Given the description of an element on the screen output the (x, y) to click on. 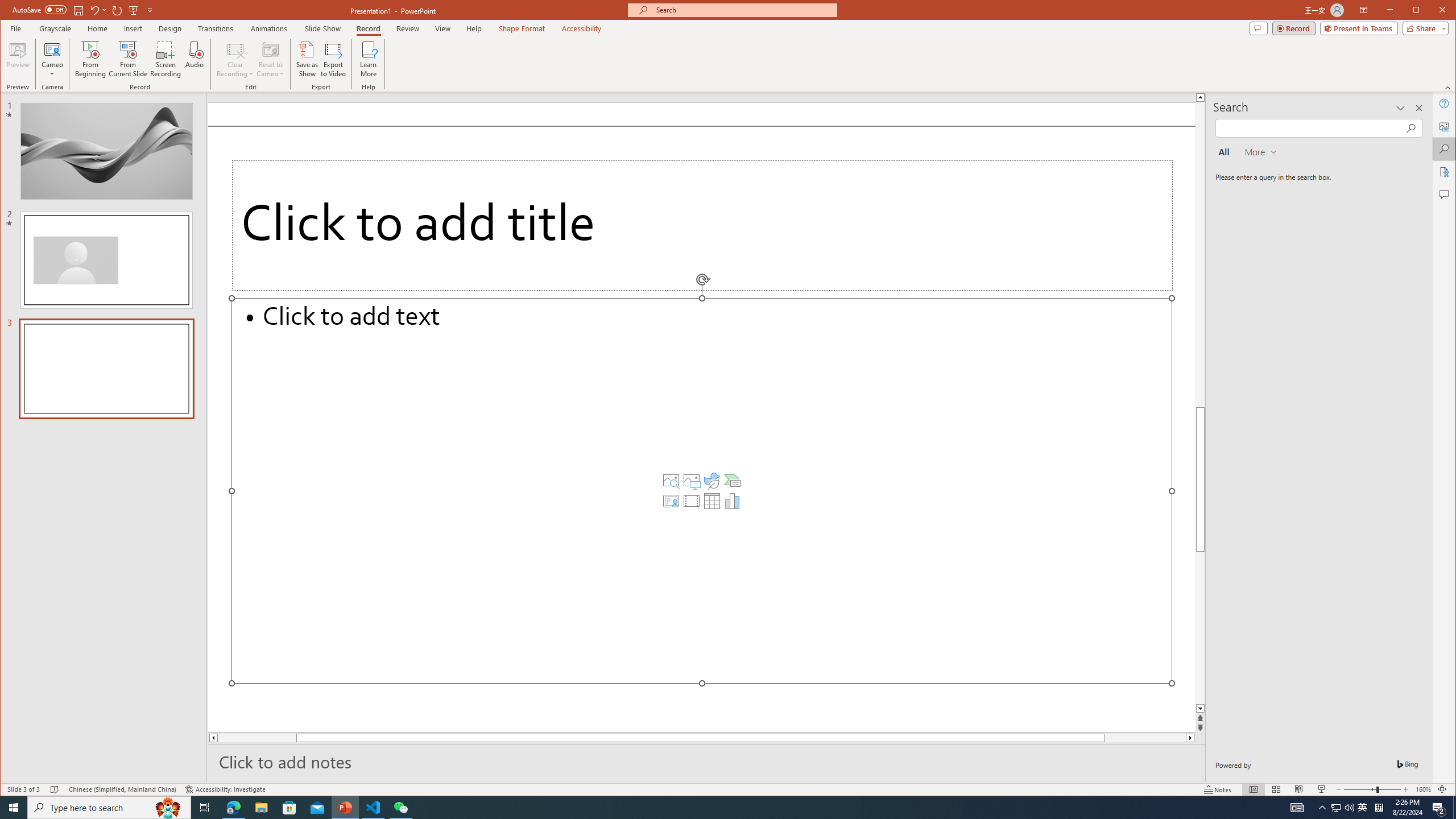
Zoom 160% (1422, 789)
